Given the description of an element on the screen output the (x, y) to click on. 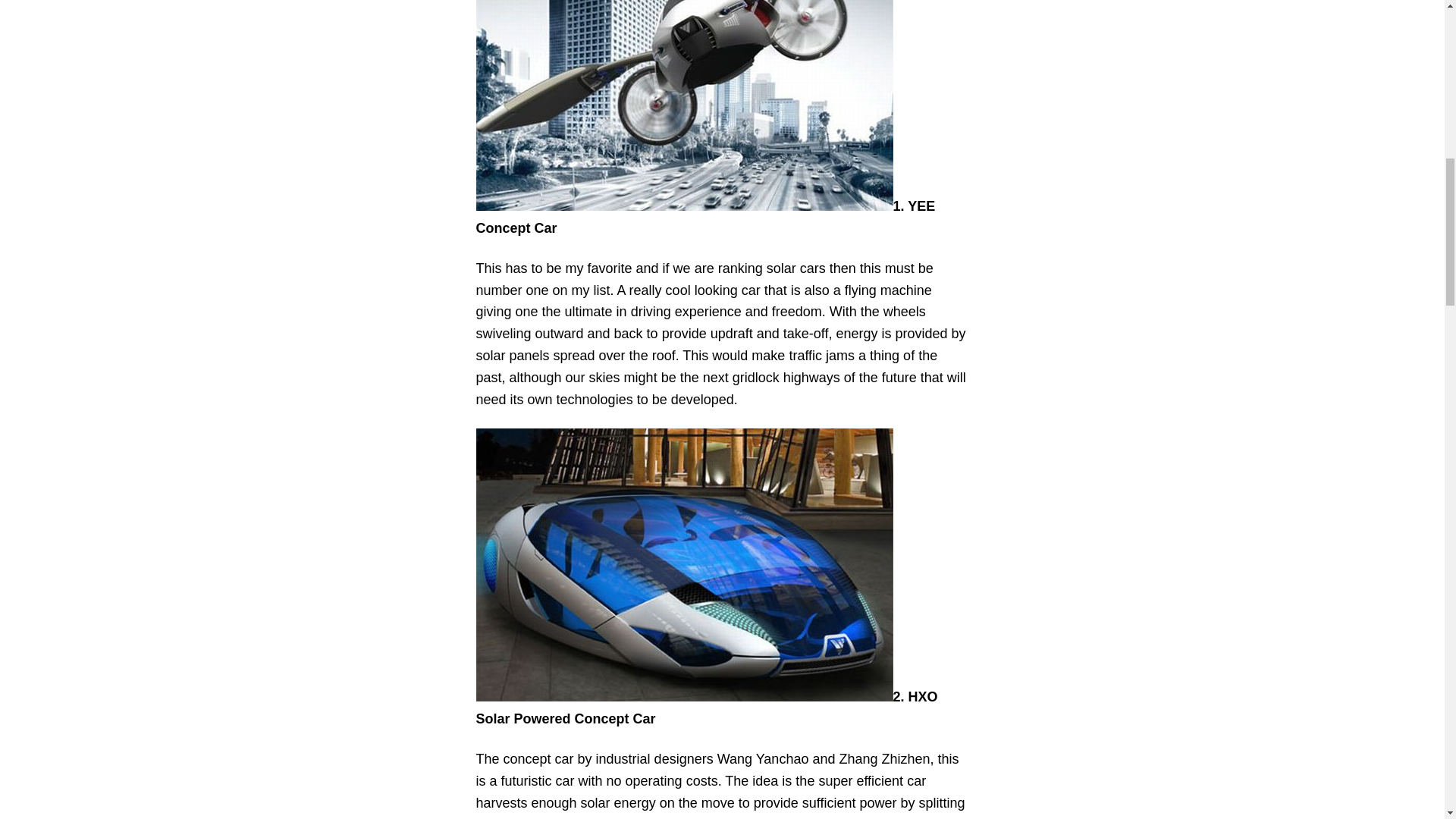
HXO Concept-car (684, 564)
Solar Powered Flying Car (684, 105)
